Given the description of an element on the screen output the (x, y) to click on. 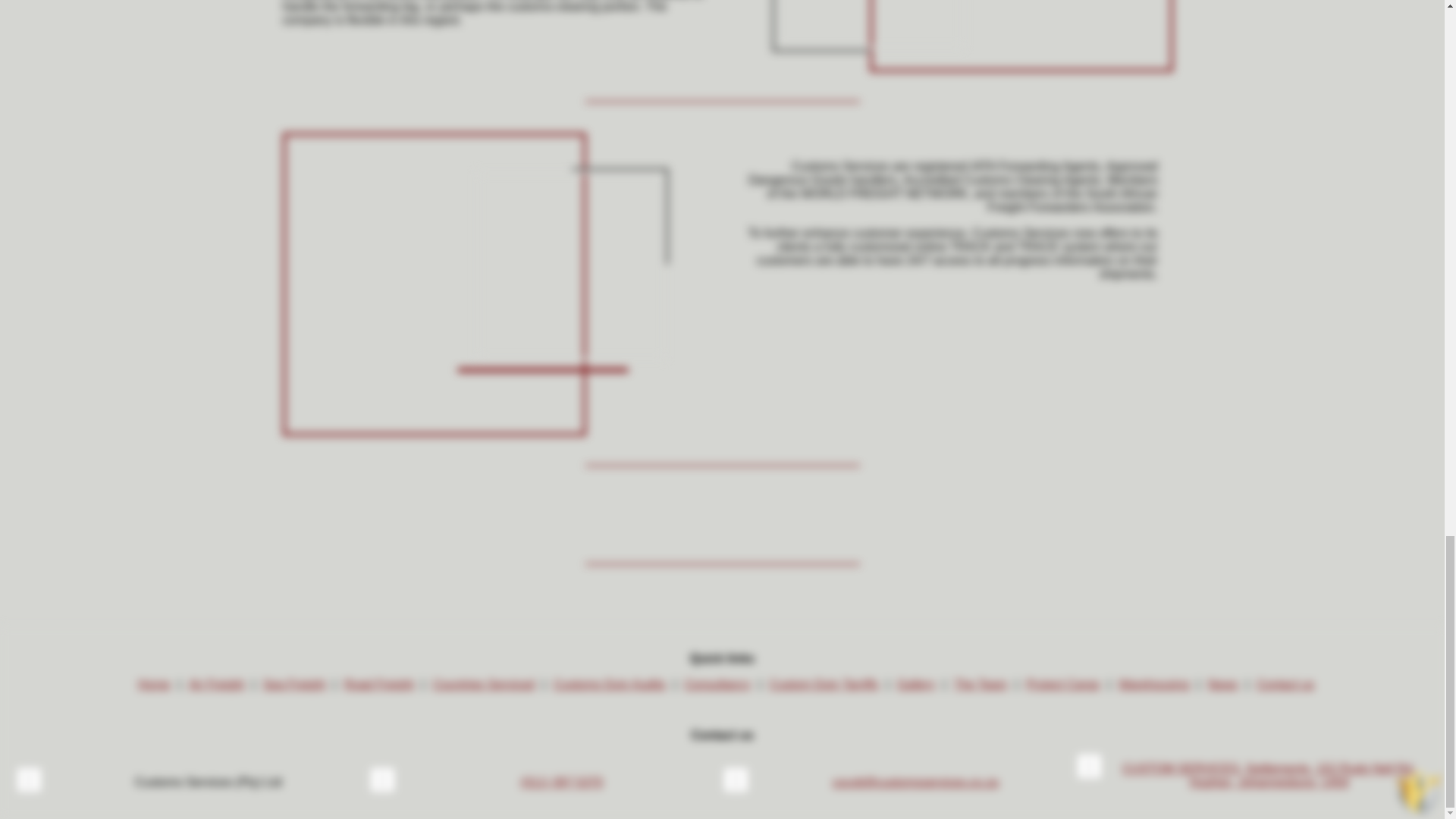
Warehousing (1153, 684)
freight (433, 284)
types-of-fre (570, 265)
Sea Freight (294, 684)
Company Email Address (735, 779)
Gallery (916, 684)
Company Contact Person (207, 782)
Company Contact Person (29, 779)
Road Freight (378, 684)
